Given the description of an element on the screen output the (x, y) to click on. 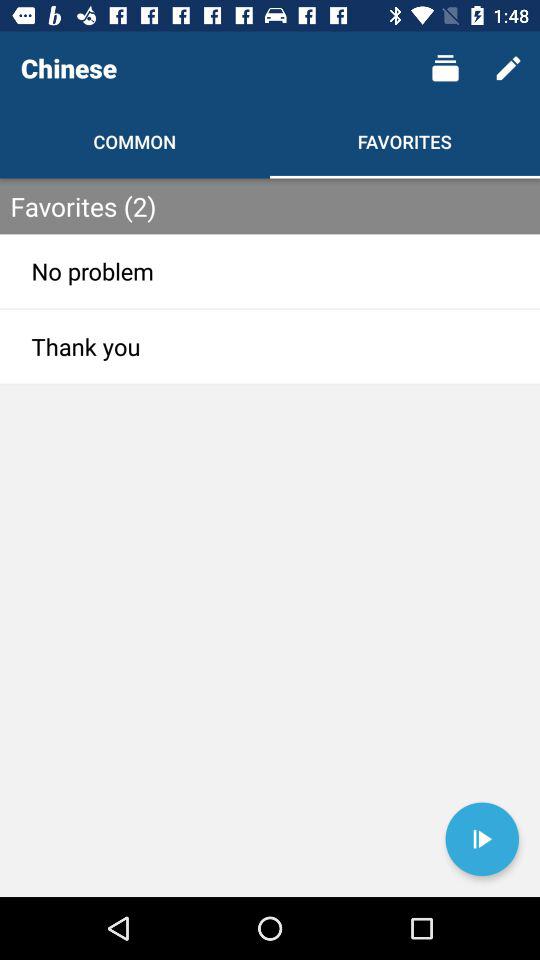
choose item to the right of chinese item (444, 67)
